Given the description of an element on the screen output the (x, y) to click on. 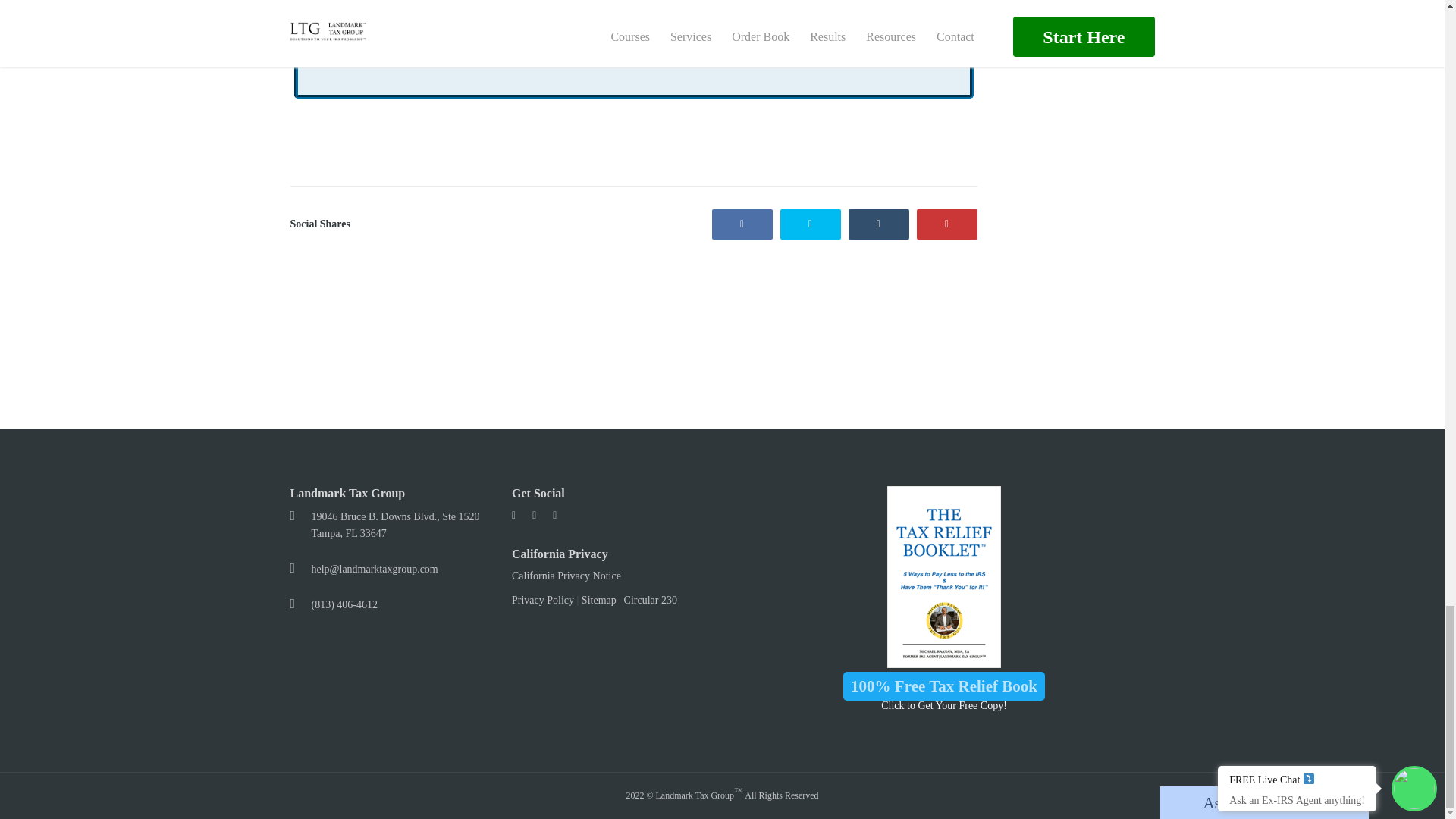
contact us now (875, 35)
